Given the description of an element on the screen output the (x, y) to click on. 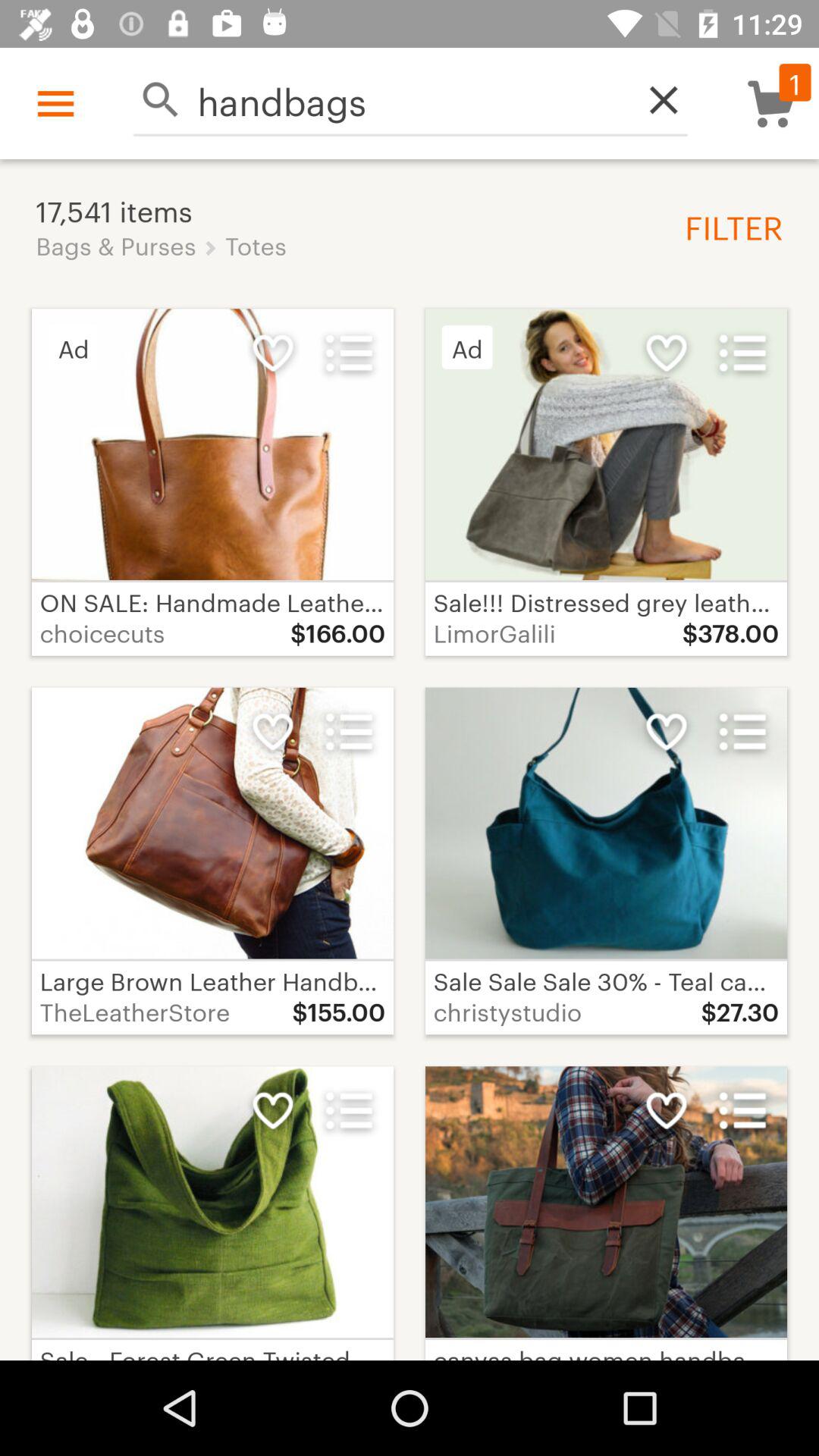
scroll to filter icon (727, 225)
